Given the description of an element on the screen output the (x, y) to click on. 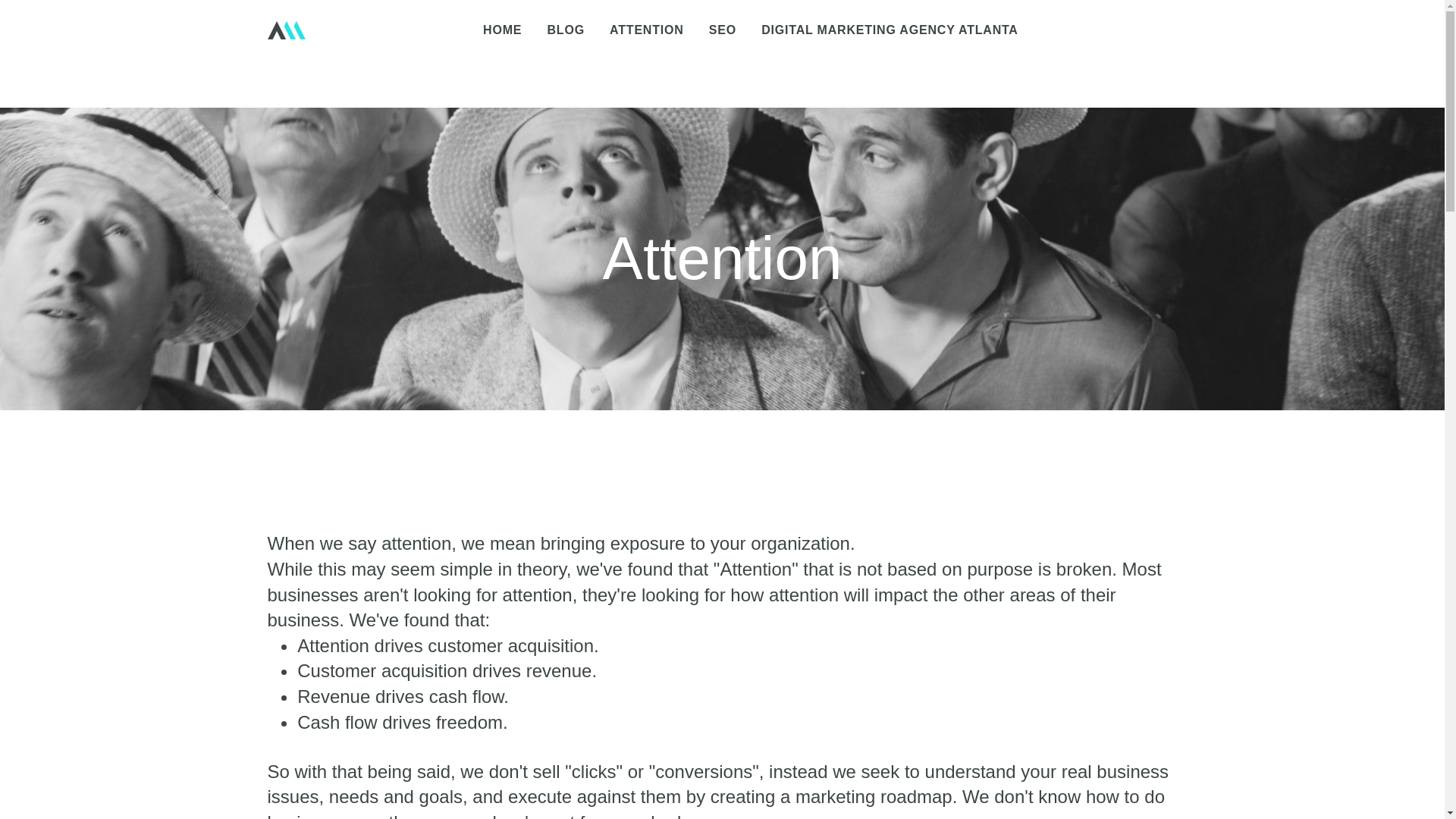
BLOG (565, 30)
DIGITAL MARKETING AGENCY ATLANTA (889, 30)
ATTENTION (646, 30)
SEO (721, 30)
HOME (501, 30)
